Given the description of an element on the screen output the (x, y) to click on. 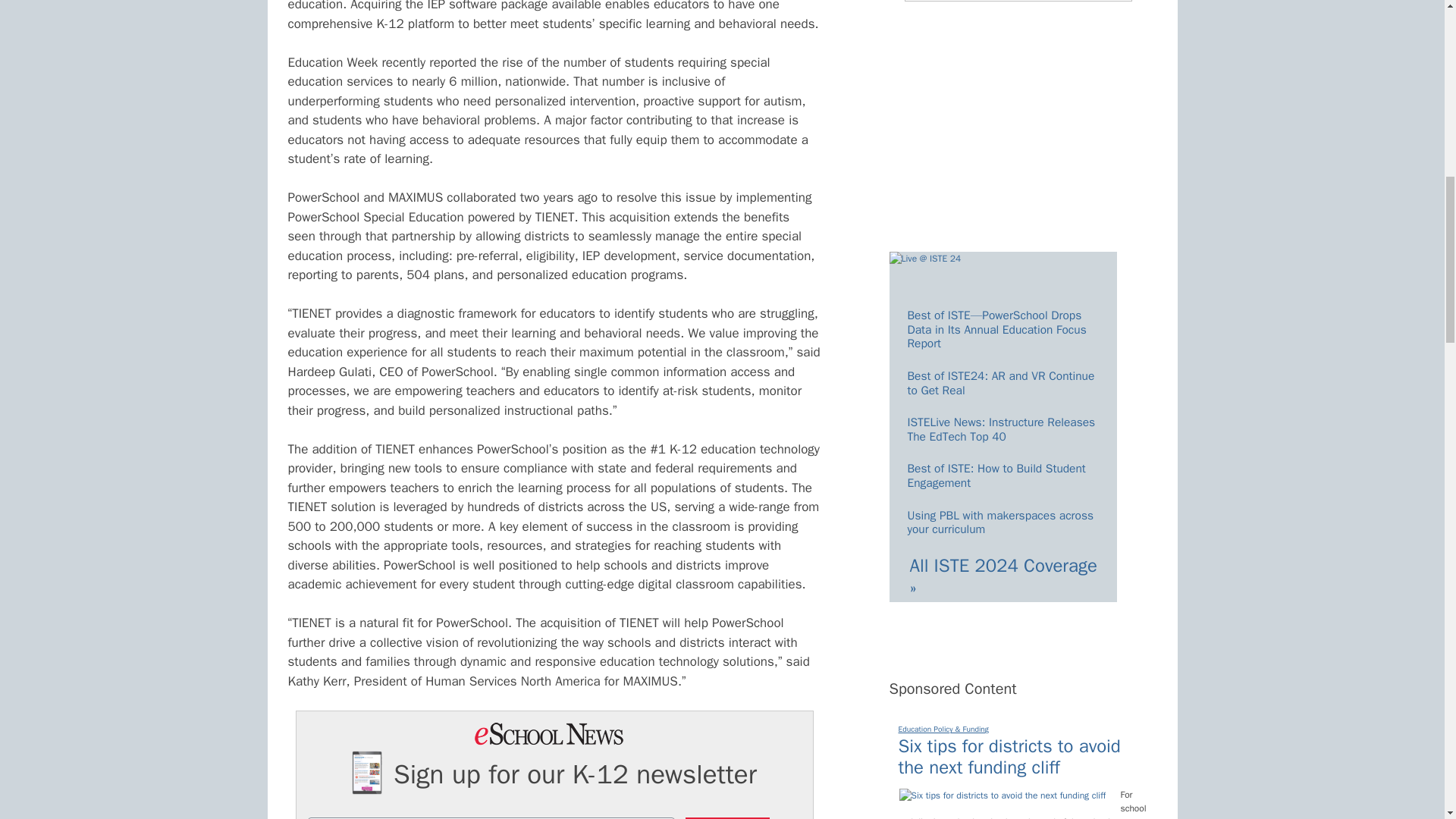
SUBSCRIBE (727, 818)
